Given the description of an element on the screen output the (x, y) to click on. 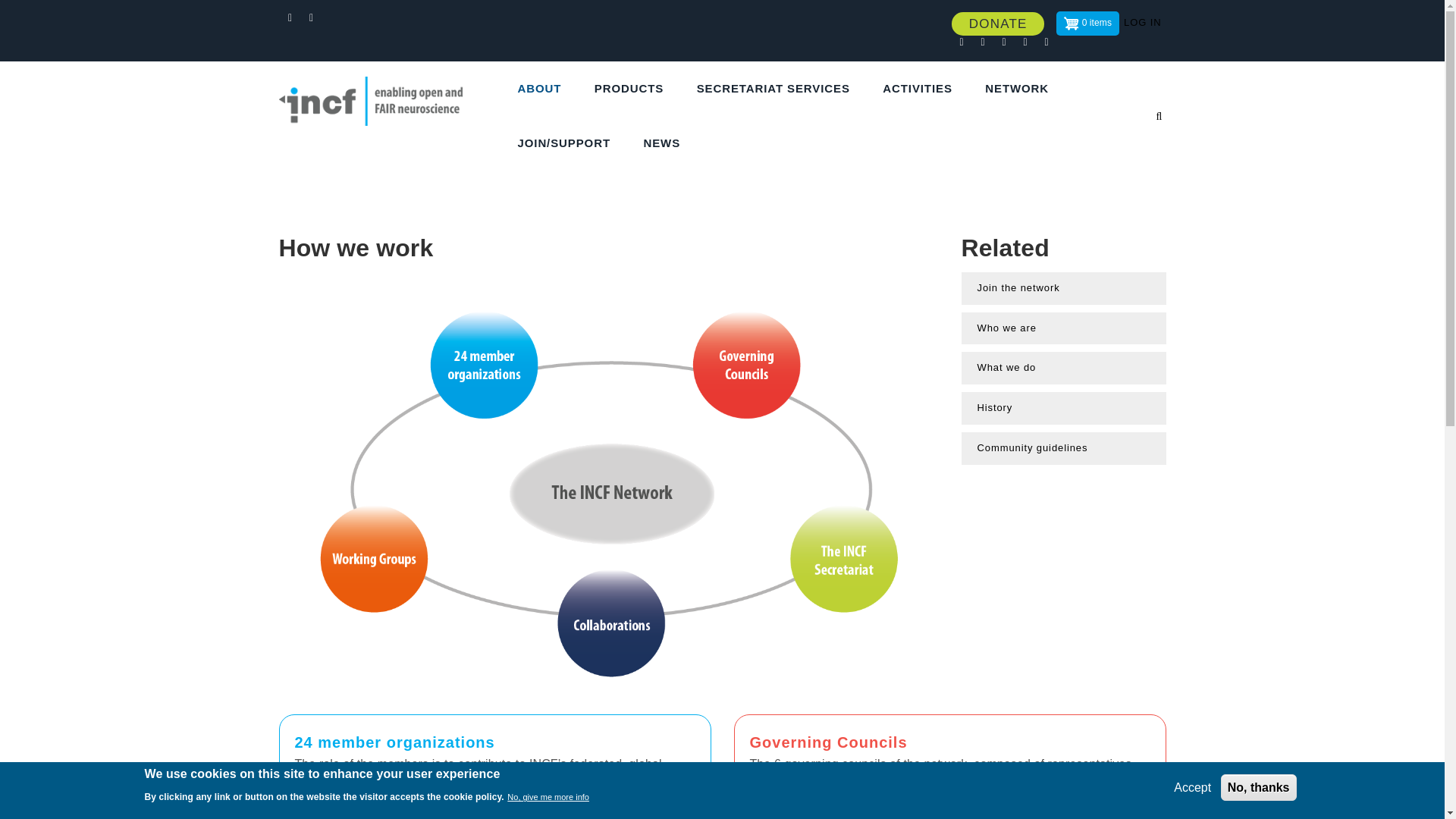
0 items (1088, 23)
LOG IN (1142, 23)
DONATE (997, 24)
ACTIVITIES (922, 88)
Home (381, 91)
PRODUCTS (634, 88)
SECRETARIAT SERVICES (778, 88)
ABOUT (544, 88)
